Given the description of an element on the screen output the (x, y) to click on. 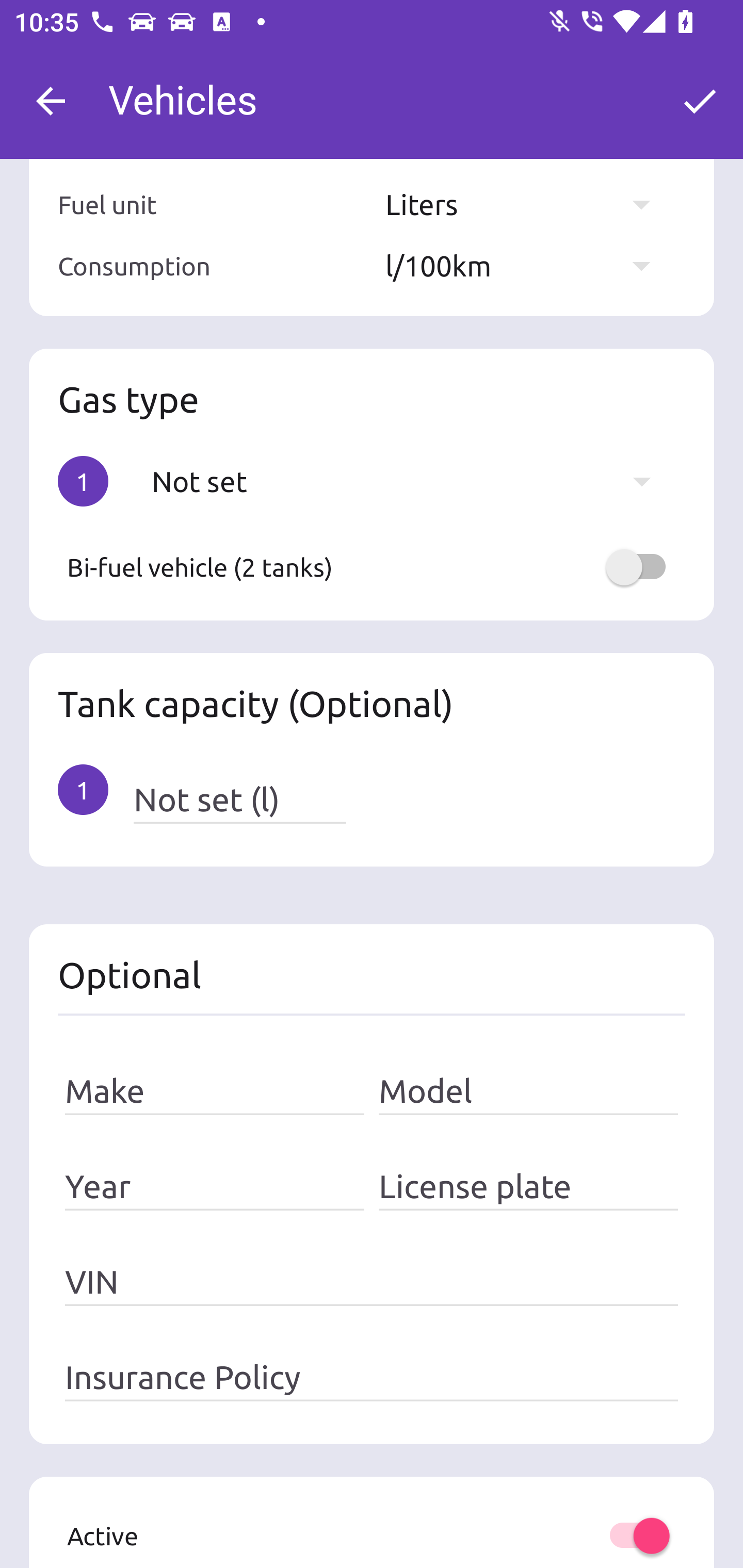
Navigate up (50, 101)
OK (699, 101)
Liters (527, 203)
l/100km (527, 265)
Not set (411, 481)
Bi-fuel vehicle (2 tanks) (371, 566)
Not set (l) (239, 799)
Make (214, 1090)
Model (528, 1090)
Year (214, 1186)
License plate (528, 1186)
VIN (371, 1282)
Insurance Policy (371, 1377)
Active (371, 1535)
